Given the description of an element on the screen output the (x, y) to click on. 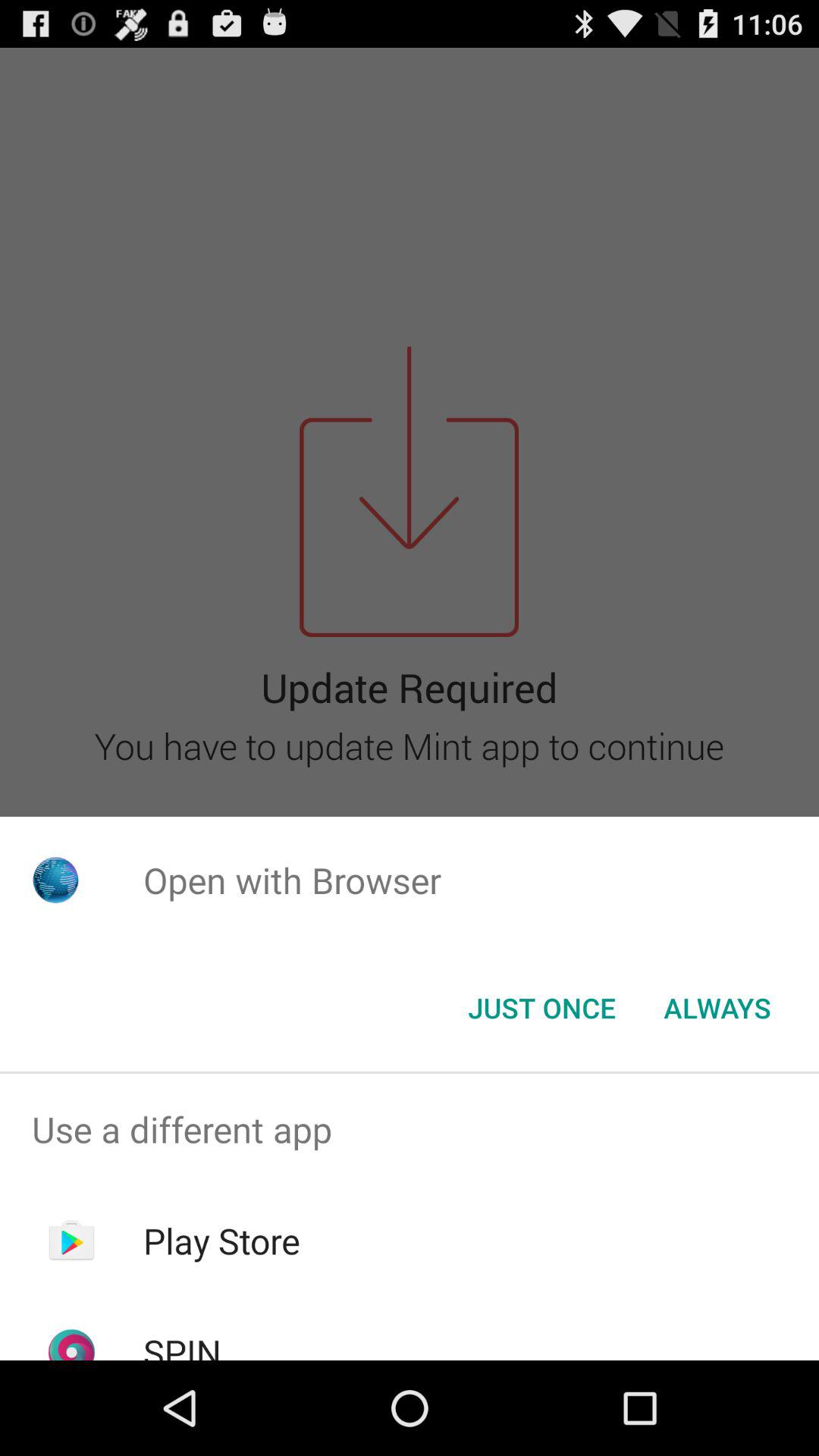
swipe to the use a different app (409, 1129)
